Given the description of an element on the screen output the (x, y) to click on. 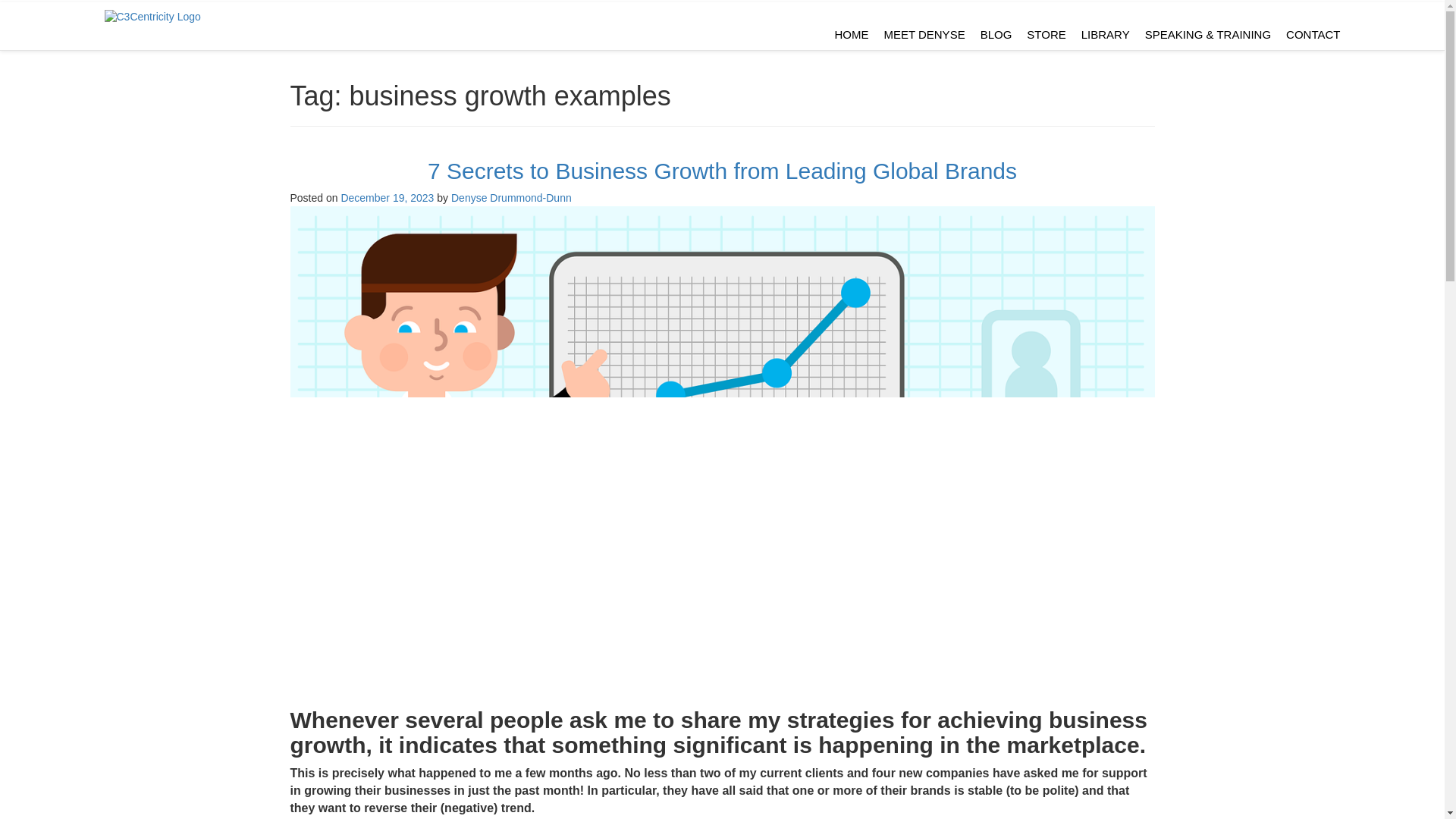
LIBRARY (1105, 33)
Denyse Drummond-Dunn (511, 197)
CONTACT (1313, 33)
MEET DENYSE (924, 33)
7 Secrets to Business Growth from Leading Global Brands (722, 170)
BLOG (996, 33)
STORE (1046, 33)
December 19, 2023 (386, 197)
HOME (851, 33)
